Given the description of an element on the screen output the (x, y) to click on. 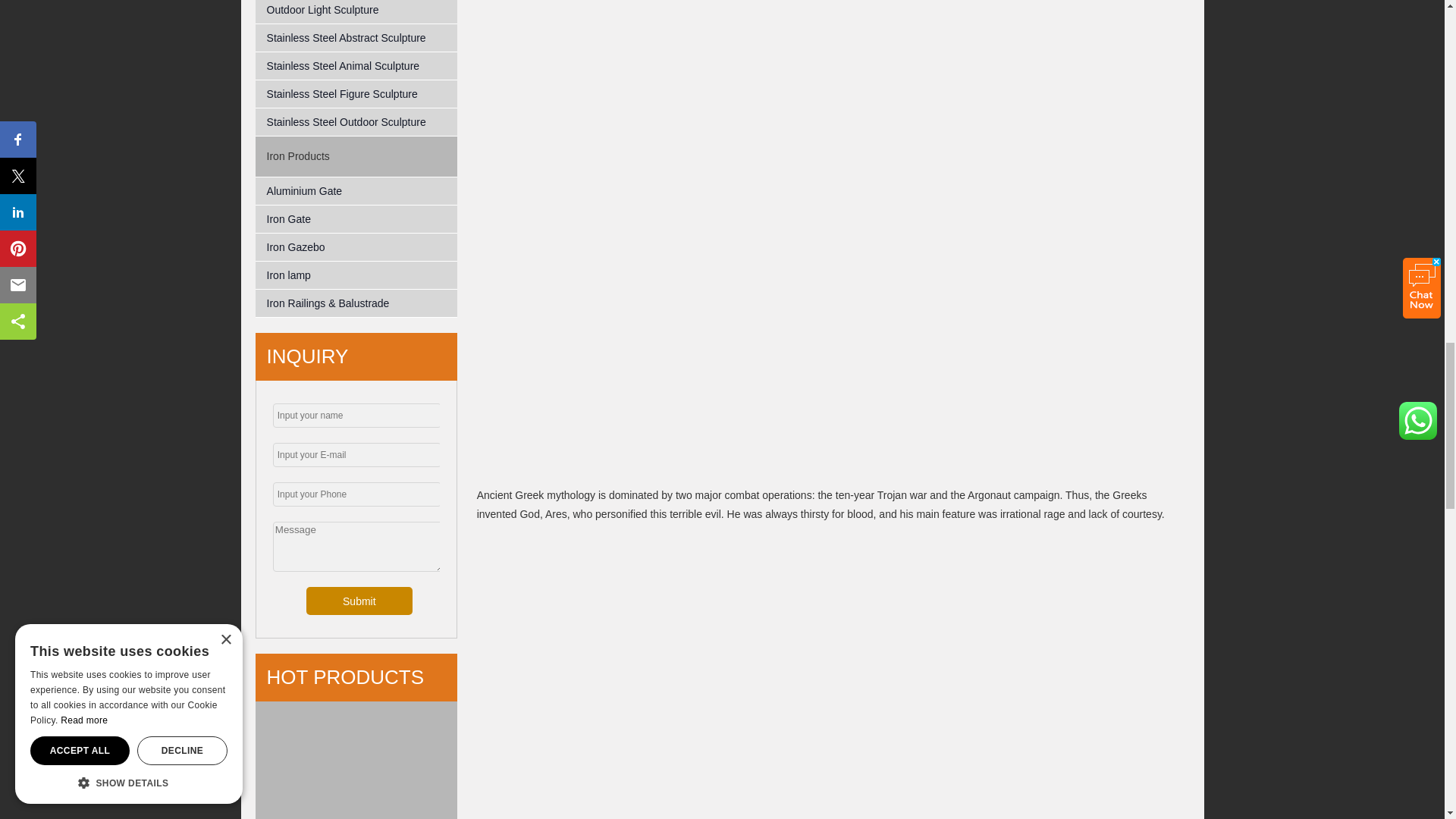
Submit (358, 601)
